Given the description of an element on the screen output the (x, y) to click on. 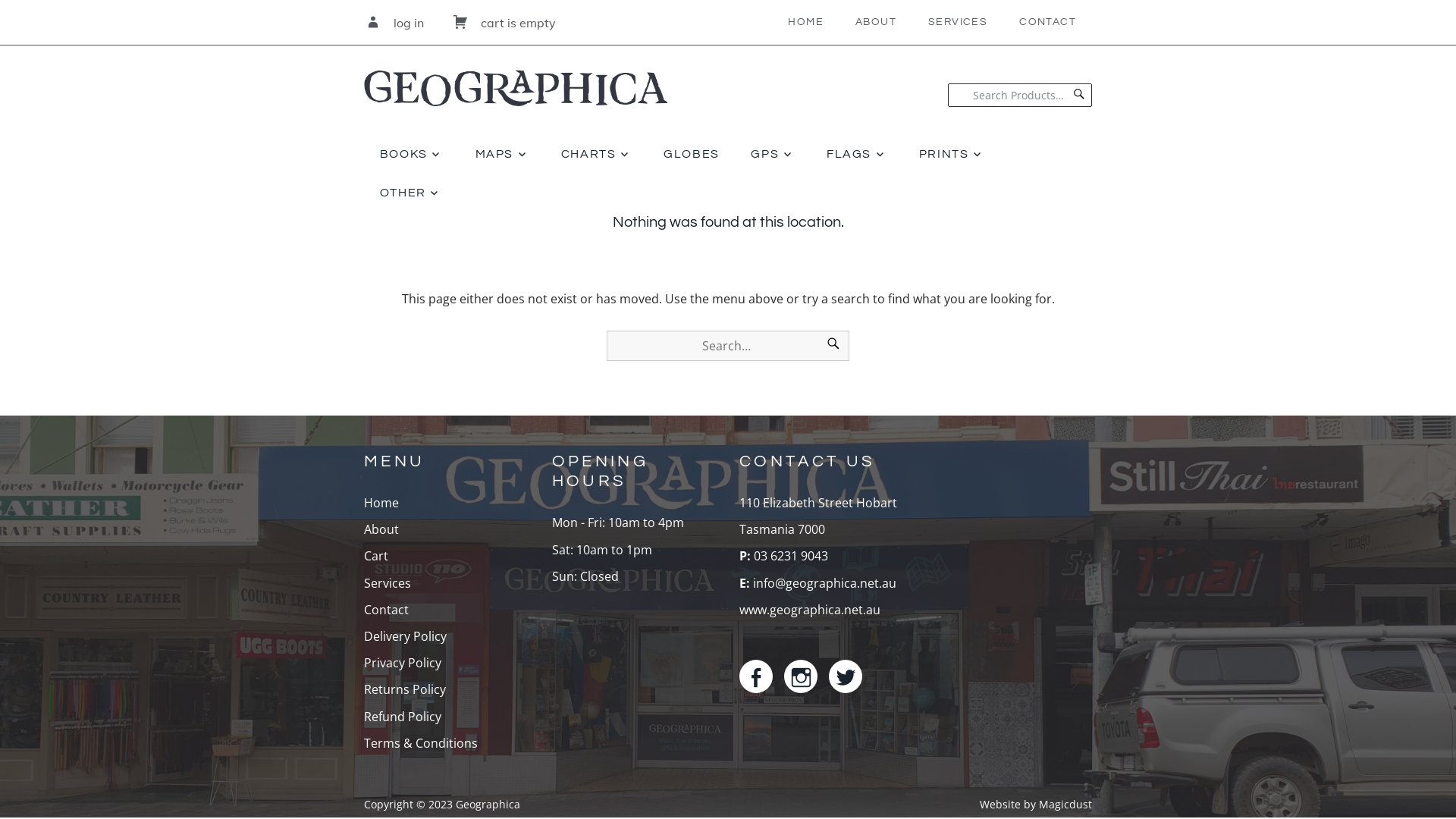
Delivery Policy Element type: text (405, 635)
About Element type: text (381, 528)
log in Element type: text (395, 22)
ABOUT Element type: text (875, 22)
Terms & Conditions Element type: text (420, 742)
GPS Element type: text (773, 153)
Refund Policy Element type: text (402, 716)
OTHER Element type: text (411, 192)
GLOBES Element type: text (690, 153)
PRINTS Element type: text (951, 153)
Cart Element type: text (376, 555)
cart is empty Element type: text (503, 22)
info@geographica.net.au Element type: text (824, 582)
MAPS Element type: text (502, 153)
Search Element type: hover (1079, 94)
Returns Policy Element type: text (404, 688)
Return to homepage Element type: hover (515, 75)
BOOKS Element type: text (411, 153)
CONTACT Element type: text (1047, 22)
Contact Element type: text (386, 609)
Services Element type: text (387, 582)
HOME Element type: text (805, 22)
CHARTS Element type: text (596, 153)
FLAGS Element type: text (856, 153)
Home Element type: text (381, 502)
SERVICES Element type: text (957, 22)
Search Element type: hover (833, 345)
03 6231 9043 Element type: text (789, 555)
Privacy Policy Element type: text (402, 662)
